Given the description of an element on the screen output the (x, y) to click on. 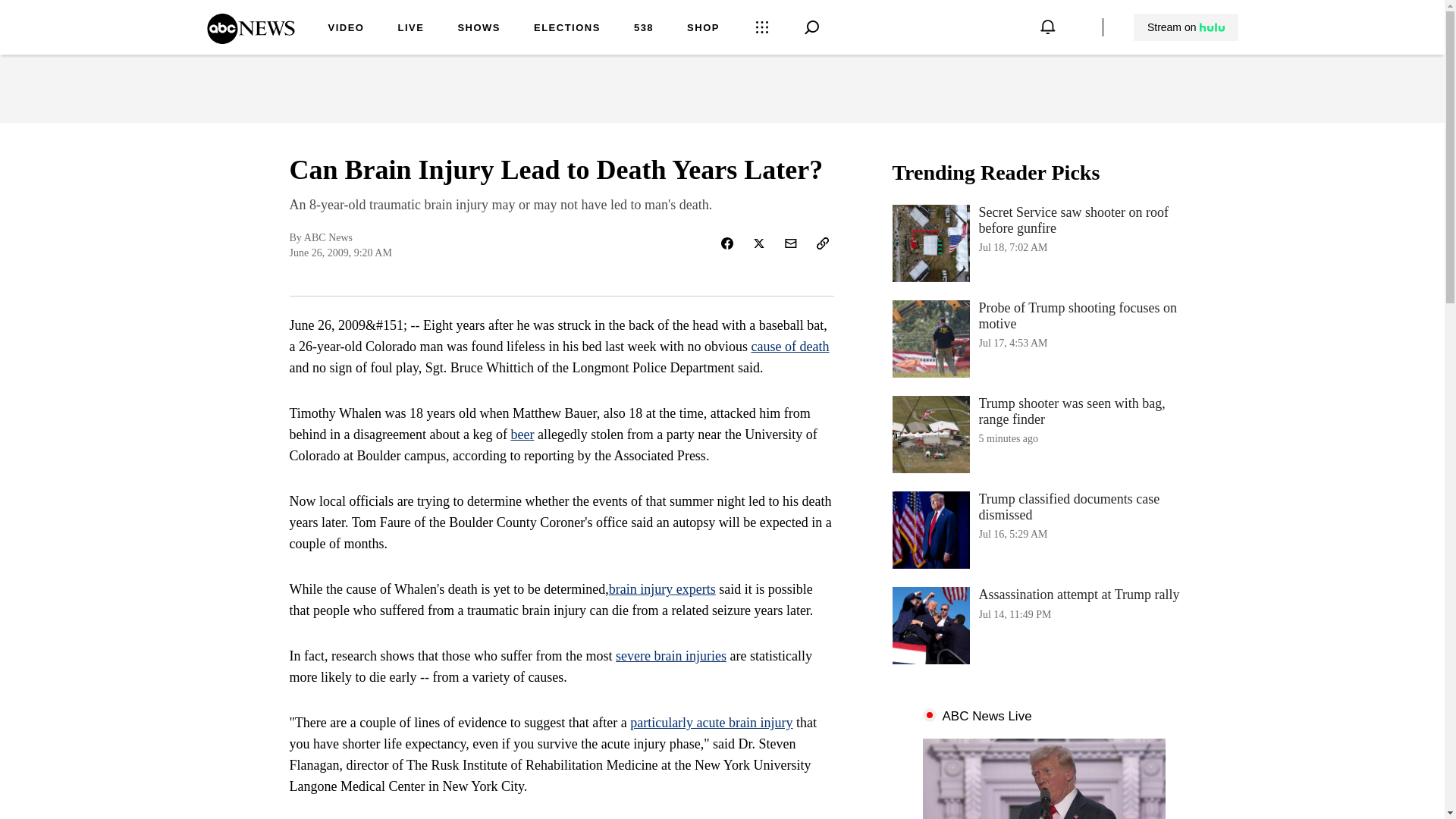
Stream on (1185, 27)
cause of death (1043, 338)
beer (790, 346)
severe brain injuries (522, 434)
SHOWS (670, 655)
ABC News (478, 28)
ELECTIONS (250, 38)
LIVE (566, 28)
particularly acute brain injury (1043, 625)
brain injury experts (410, 28)
VIDEO (711, 722)
